Given the description of an element on the screen output the (x, y) to click on. 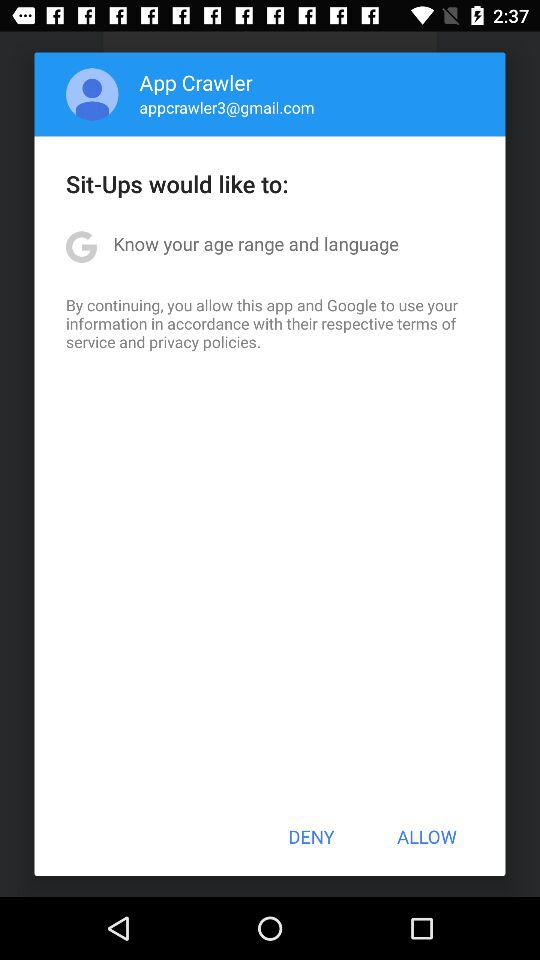
tap the button next to the allow (311, 836)
